Given the description of an element on the screen output the (x, y) to click on. 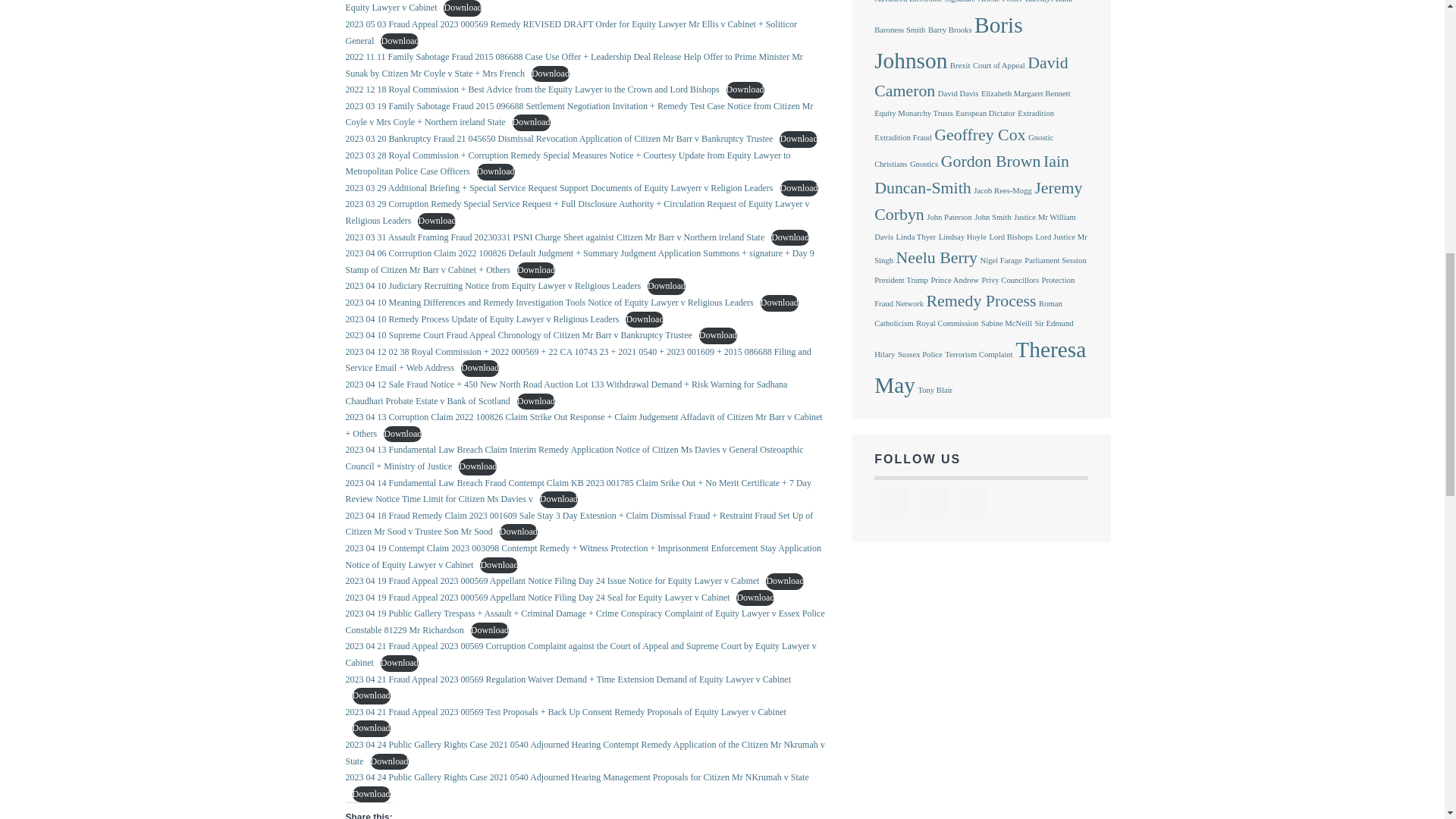
Download (797, 188)
Download (550, 74)
Download (496, 171)
Download (797, 139)
Download (531, 122)
Download (745, 89)
Download (462, 8)
Download (399, 41)
